Given the description of an element on the screen output the (x, y) to click on. 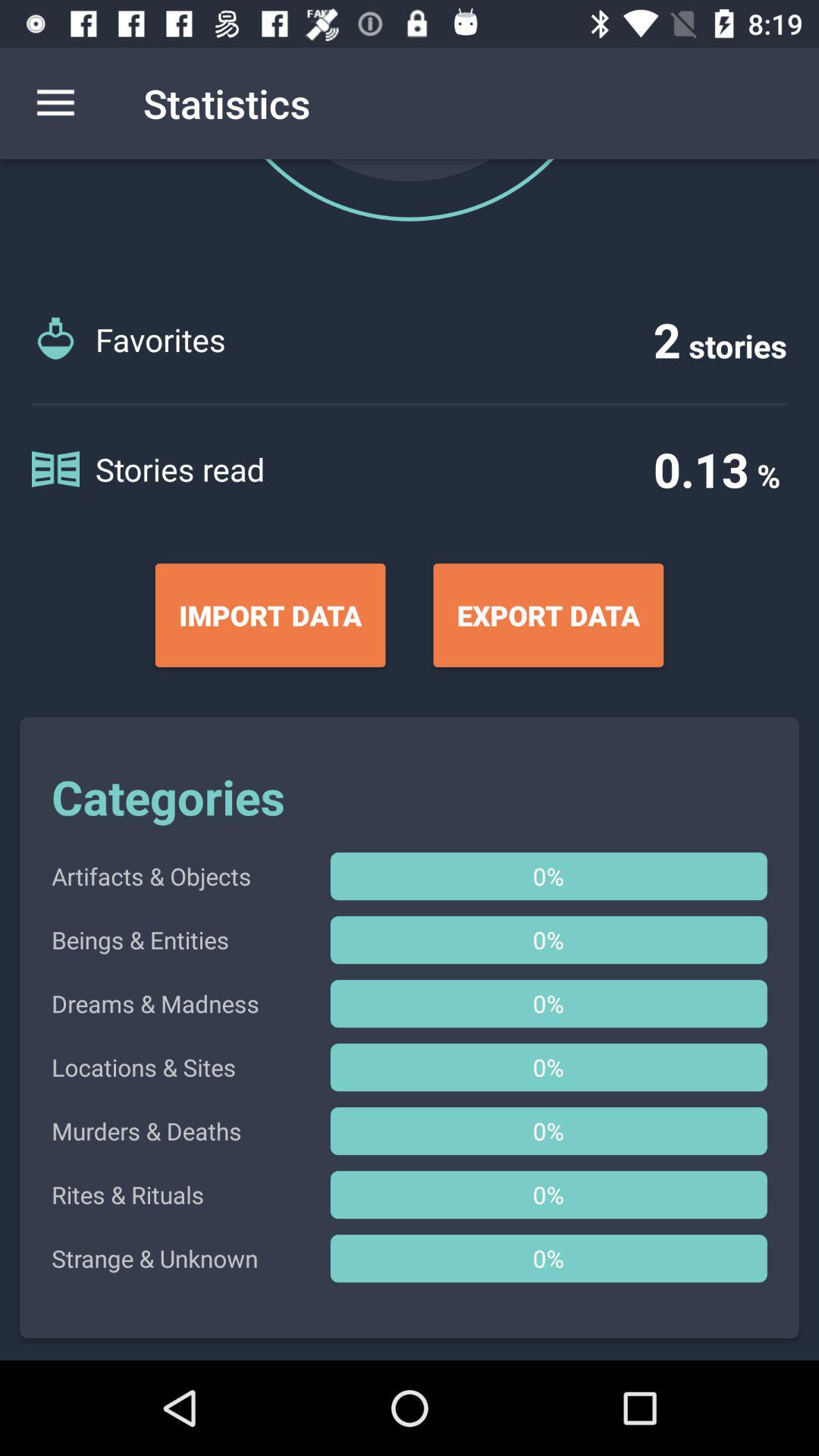
click the item next to import data icon (548, 615)
